Given the description of an element on the screen output the (x, y) to click on. 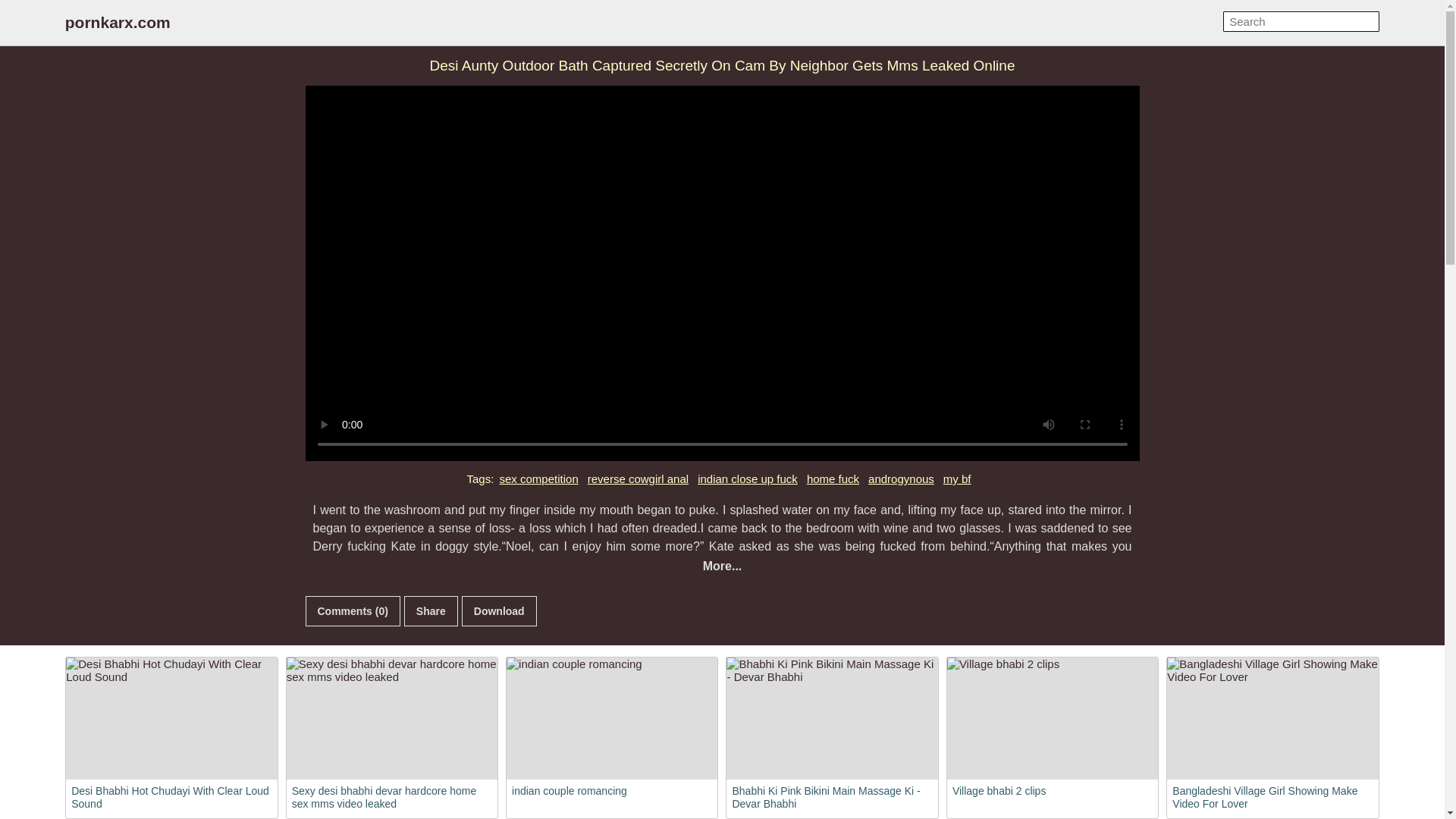
reverse cowgirl anal (637, 478)
pornkarx.com (117, 22)
androgynous (901, 478)
indian close up fuck (747, 478)
Download (499, 611)
Bangladeshi Village Girl Showing Make Video For Lover (1272, 718)
home fuck (833, 478)
my bf (957, 478)
indian couple romancing (611, 718)
Sexy desi bhabhi devar hardcore home sex mms video leaked (391, 718)
Village bhabi 2 clips (1052, 718)
sex competition (538, 478)
Bhabhi Ki Pink Bikini Main Massage Ki - Devar Bhabhi (831, 718)
Desi Bhabhi Hot Chudayi With Clear Loud Sound (170, 718)
Share (431, 611)
